Given the description of an element on the screen output the (x, y) to click on. 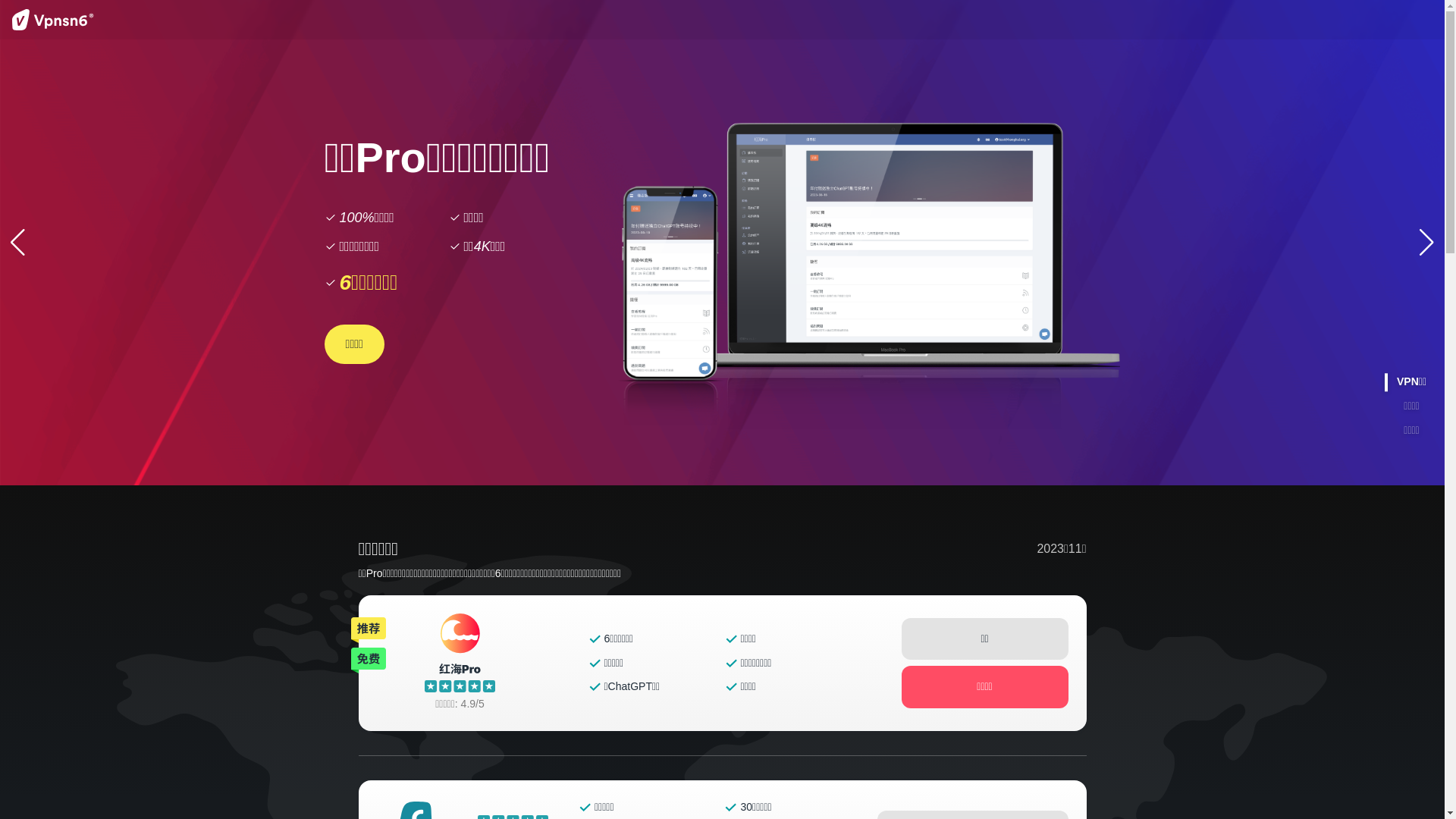
VPN Element type: text (602, 682)
Ivacy Element type: text (604, 619)
Search Element type: text (1180, 23)
TOP Element type: text (695, 619)
TW VPN Element type: text (612, 726)
iOS 17 Element type: text (608, 532)
Ivacy VPN Element type: text (650, 619)
